Given the description of an element on the screen output the (x, y) to click on. 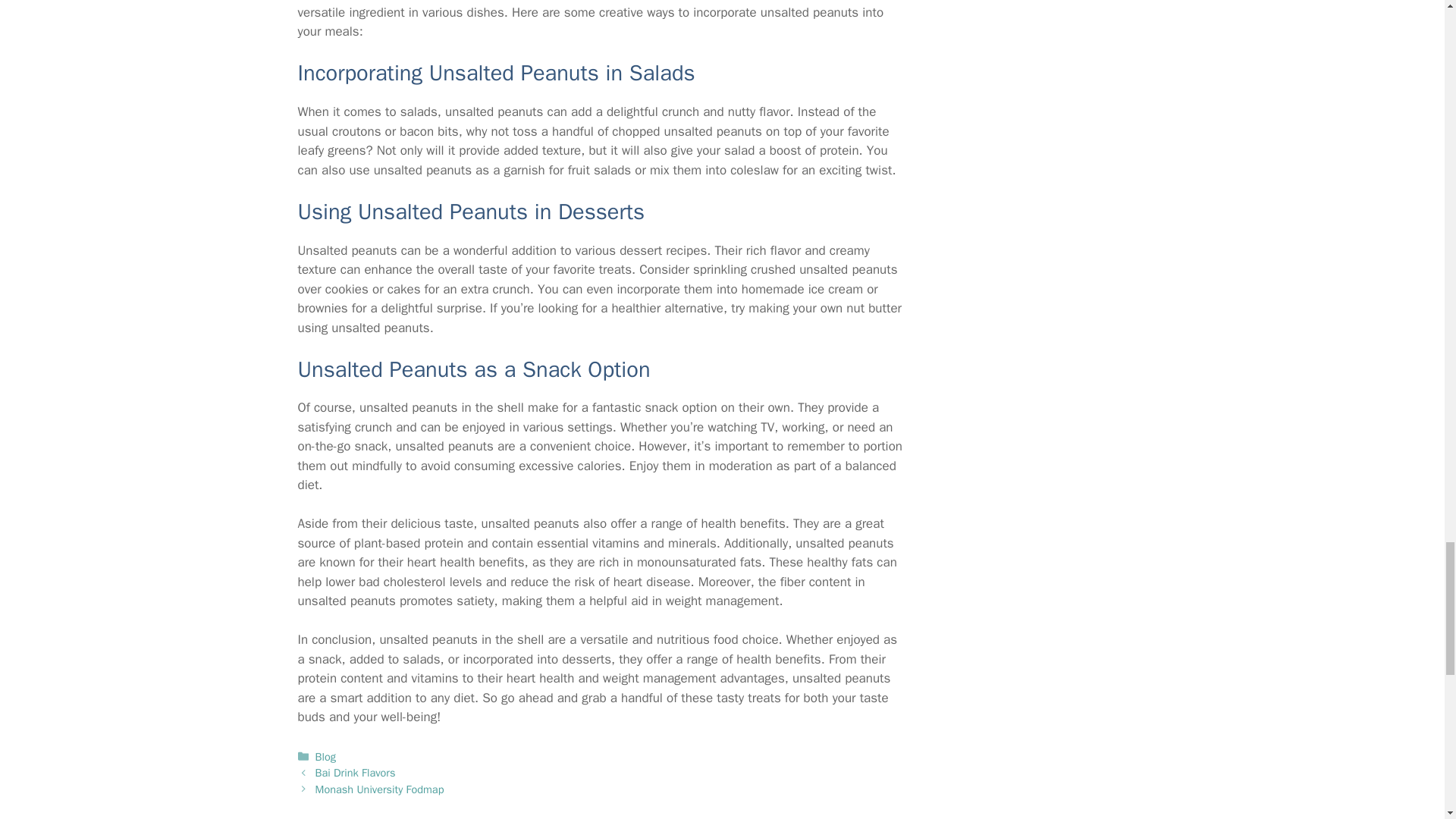
Monash University Fodmap (379, 789)
Bai Drink Flavors (355, 772)
Blog (325, 756)
